Given the description of an element on the screen output the (x, y) to click on. 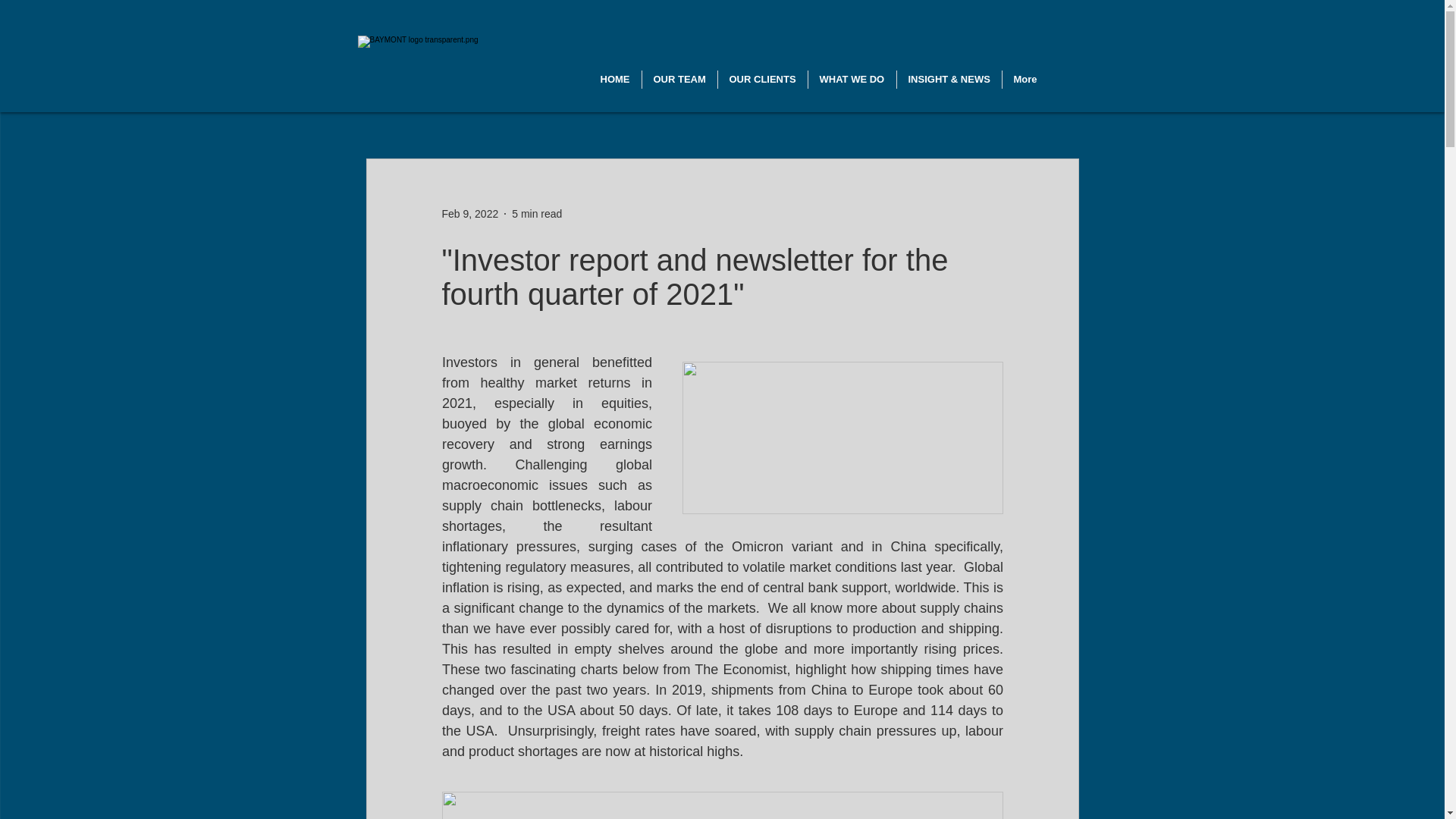
WHAT WE DO (852, 79)
HOME (614, 79)
OUR TEAM (679, 79)
5 min read (537, 214)
OUR CLIENTS (761, 79)
Feb 9, 2022 (469, 214)
